Given the description of an element on the screen output the (x, y) to click on. 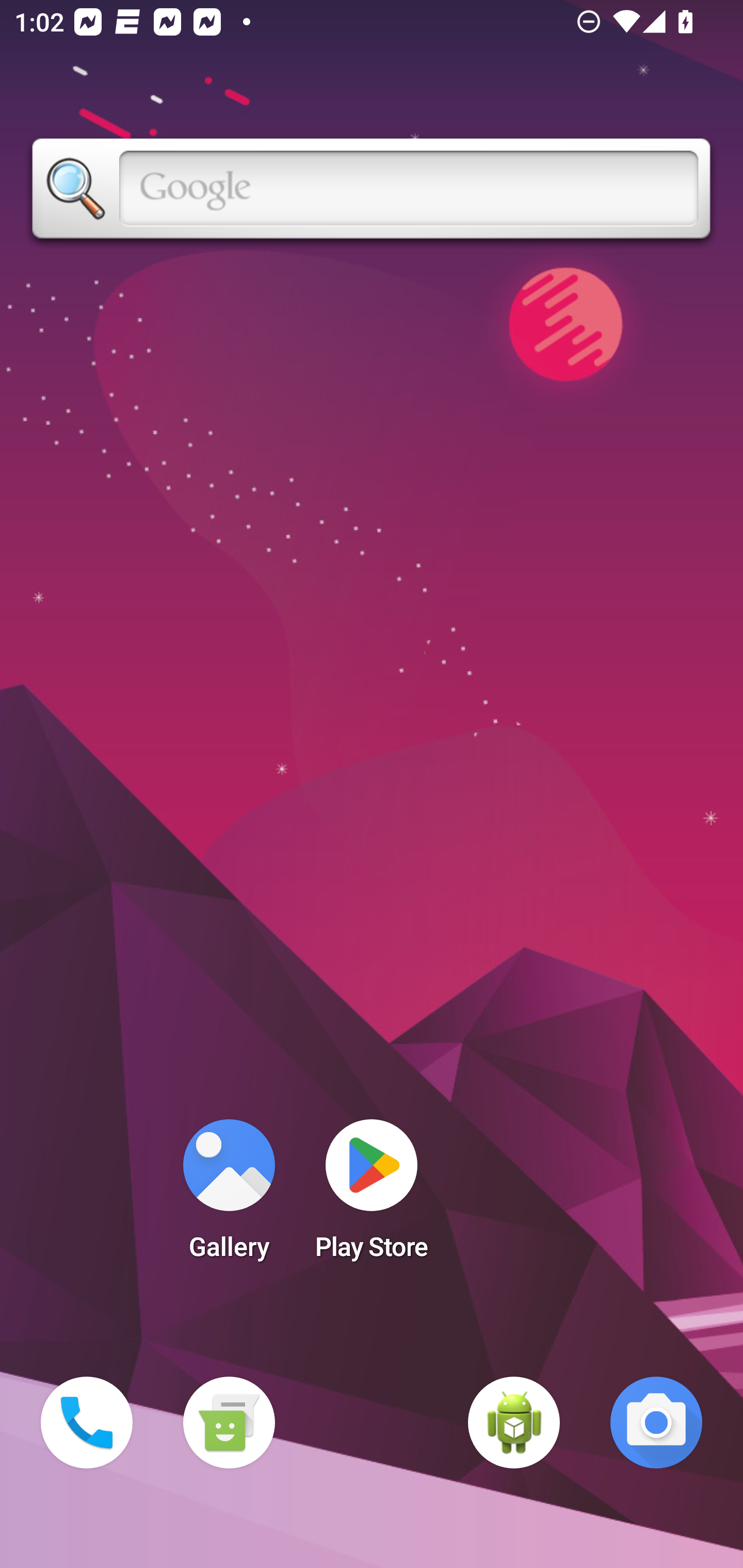
Gallery (228, 1195)
Play Store (371, 1195)
Phone (86, 1422)
Messaging (228, 1422)
WebView Browser Tester (513, 1422)
Camera (656, 1422)
